Given the description of an element on the screen output the (x, y) to click on. 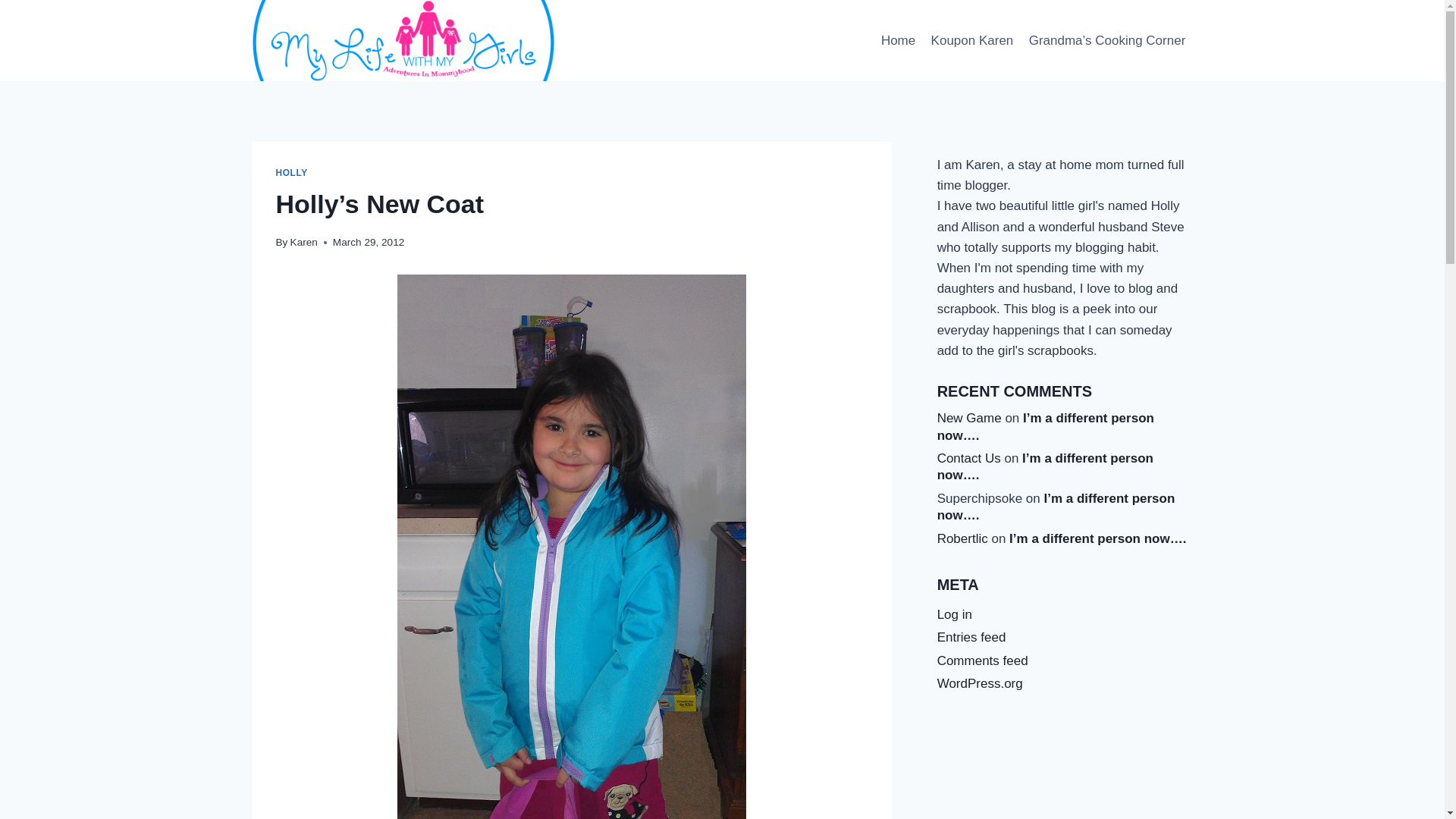
Home (898, 40)
Karen (303, 242)
Koupon Karen (971, 40)
HOLLY (291, 172)
